Given the description of an element on the screen output the (x, y) to click on. 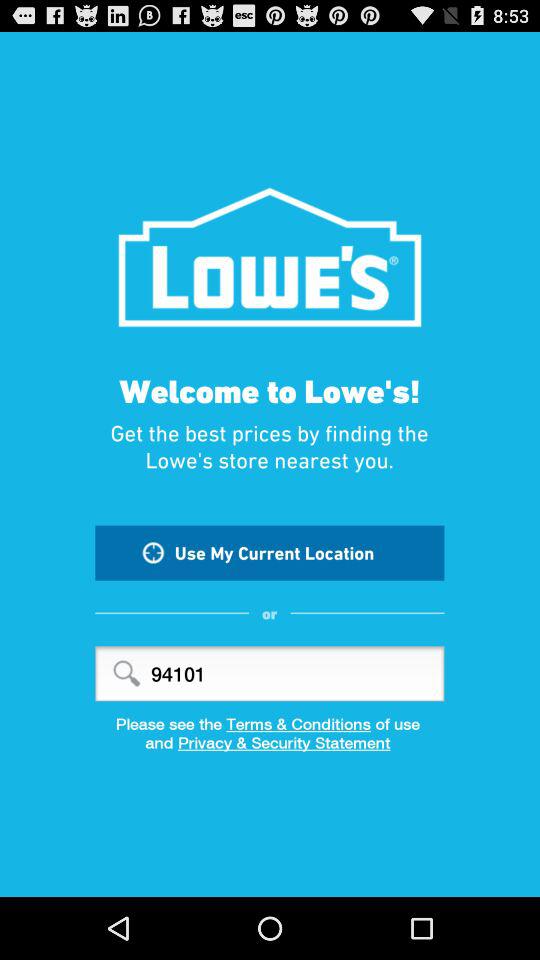
select and privacy security (270, 749)
